Given the description of an element on the screen output the (x, y) to click on. 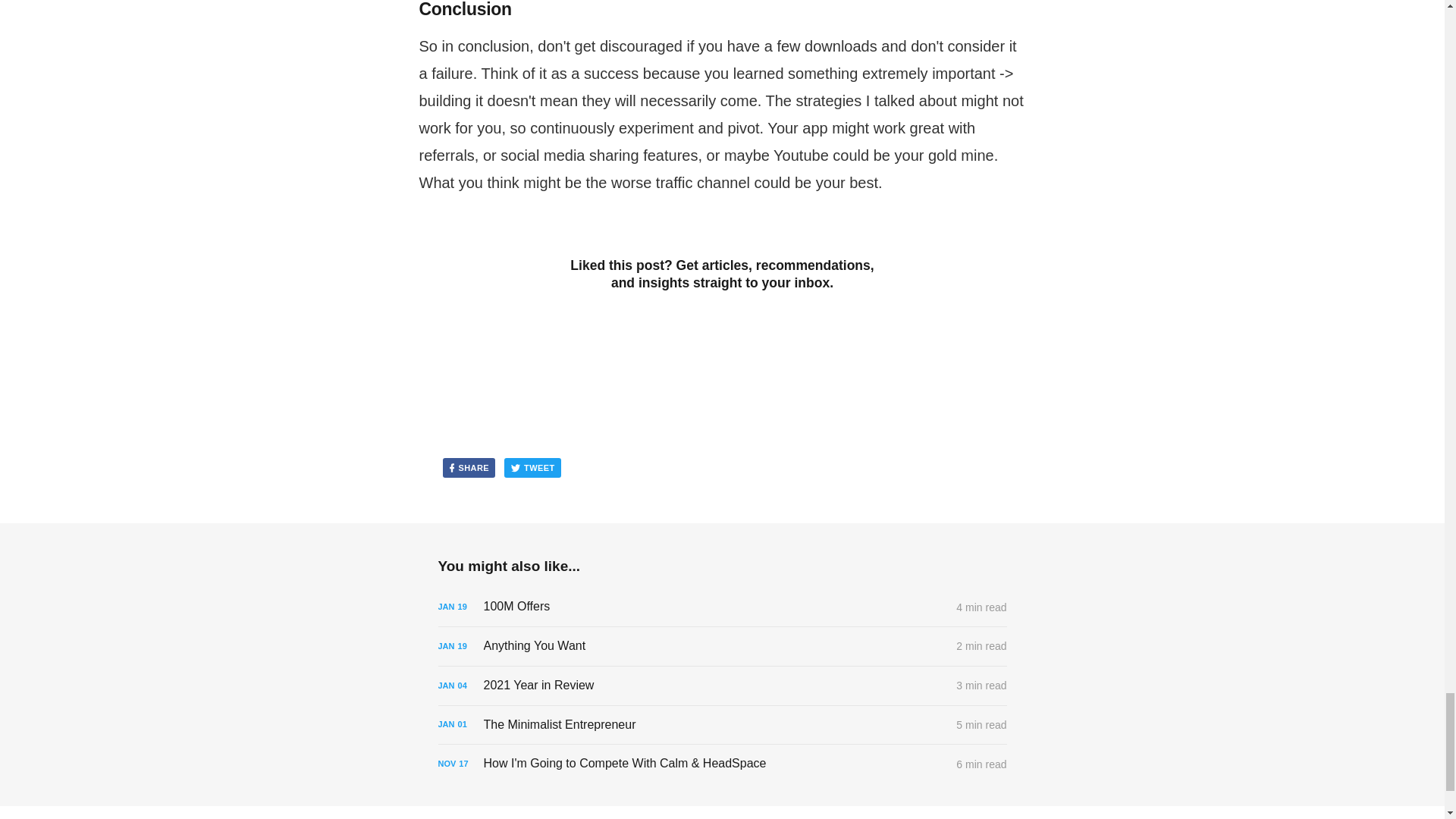
TWEET (531, 467)
SHARE (469, 467)
